Given the description of an element on the screen output the (x, y) to click on. 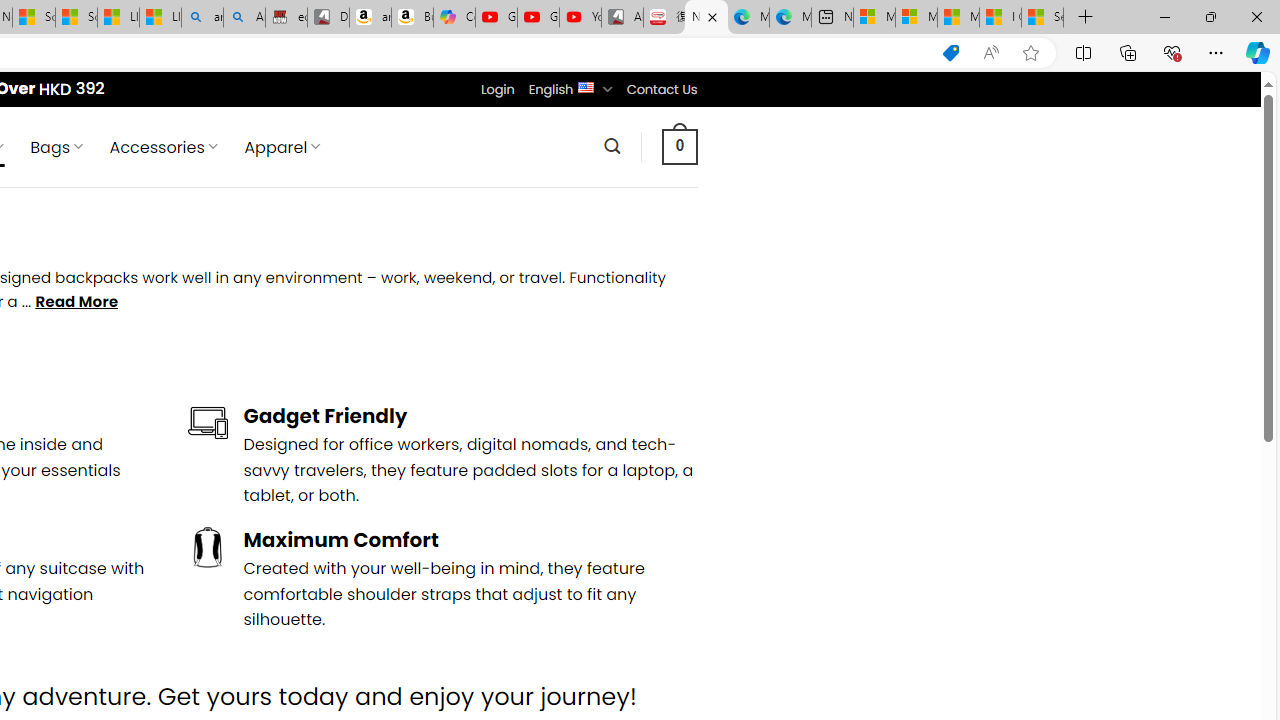
Nordace - Backpacks (706, 17)
amazon.in/dp/B0CX59H5W7/?tag=gsmcom05-21 (369, 17)
Amazon Echo Dot PNG - Search Images (244, 17)
Gloom - YouTube (538, 17)
English (586, 86)
